Given the description of an element on the screen output the (x, y) to click on. 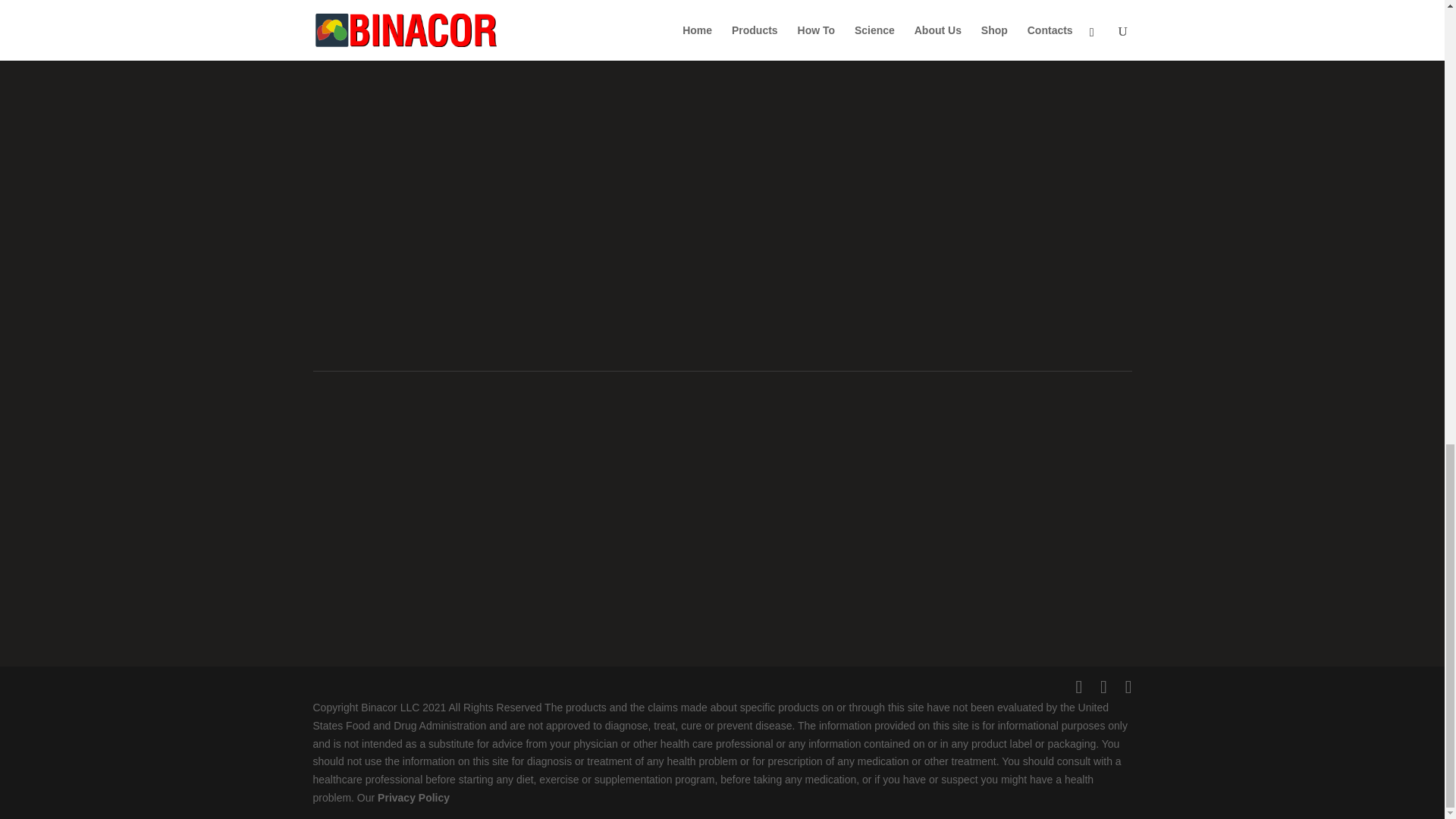
Privacy Policy (413, 797)
